Given the description of an element on the screen output the (x, y) to click on. 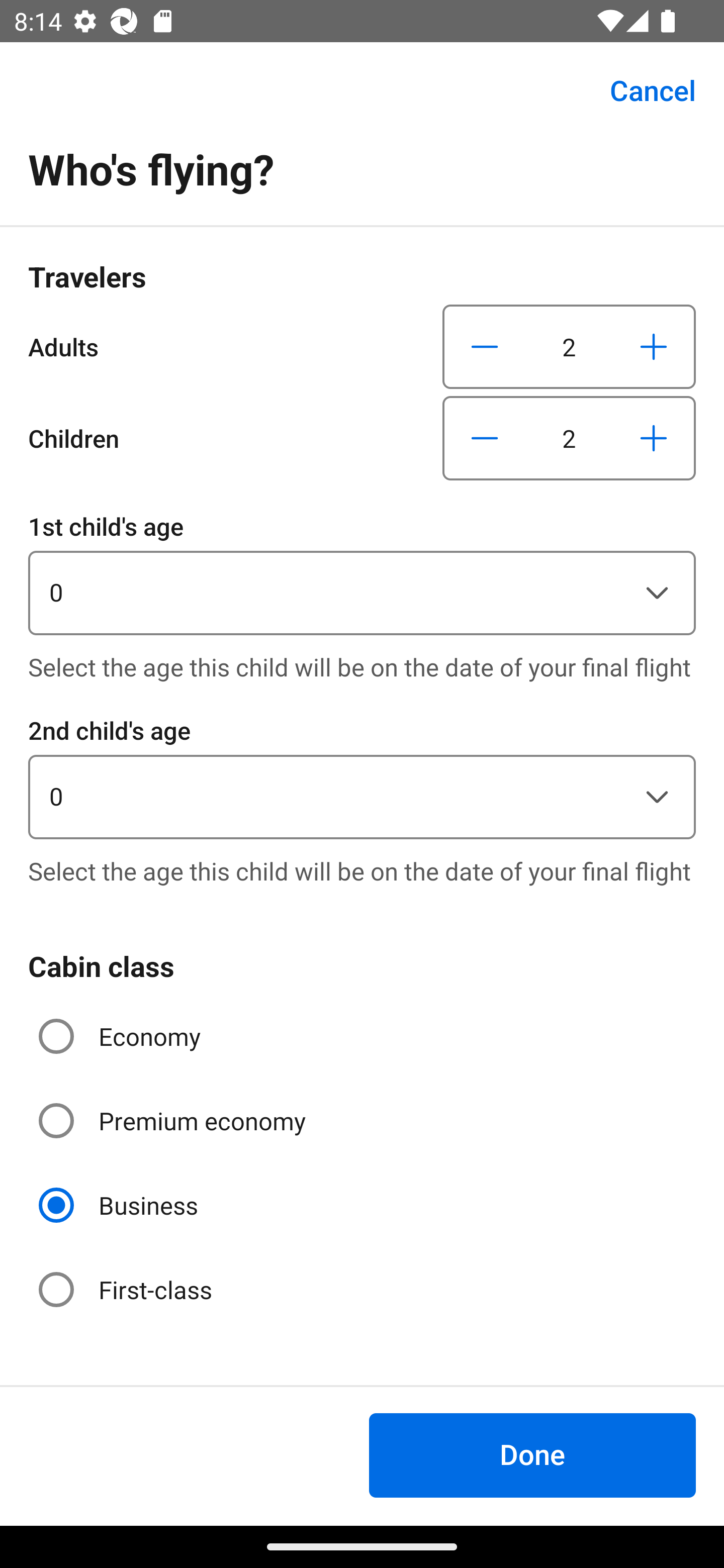
Cancel (641, 90)
Decrease (484, 346)
Increase (653, 346)
Decrease (484, 437)
Increase (653, 437)
1st child's age
 1st child's age 0 (361, 571)
2nd child's age
 2nd child's age 0 (361, 774)
Economy (121, 1036)
Premium economy (174, 1120)
Business (120, 1205)
First-class (126, 1289)
Done (532, 1454)
